Given the description of an element on the screen output the (x, y) to click on. 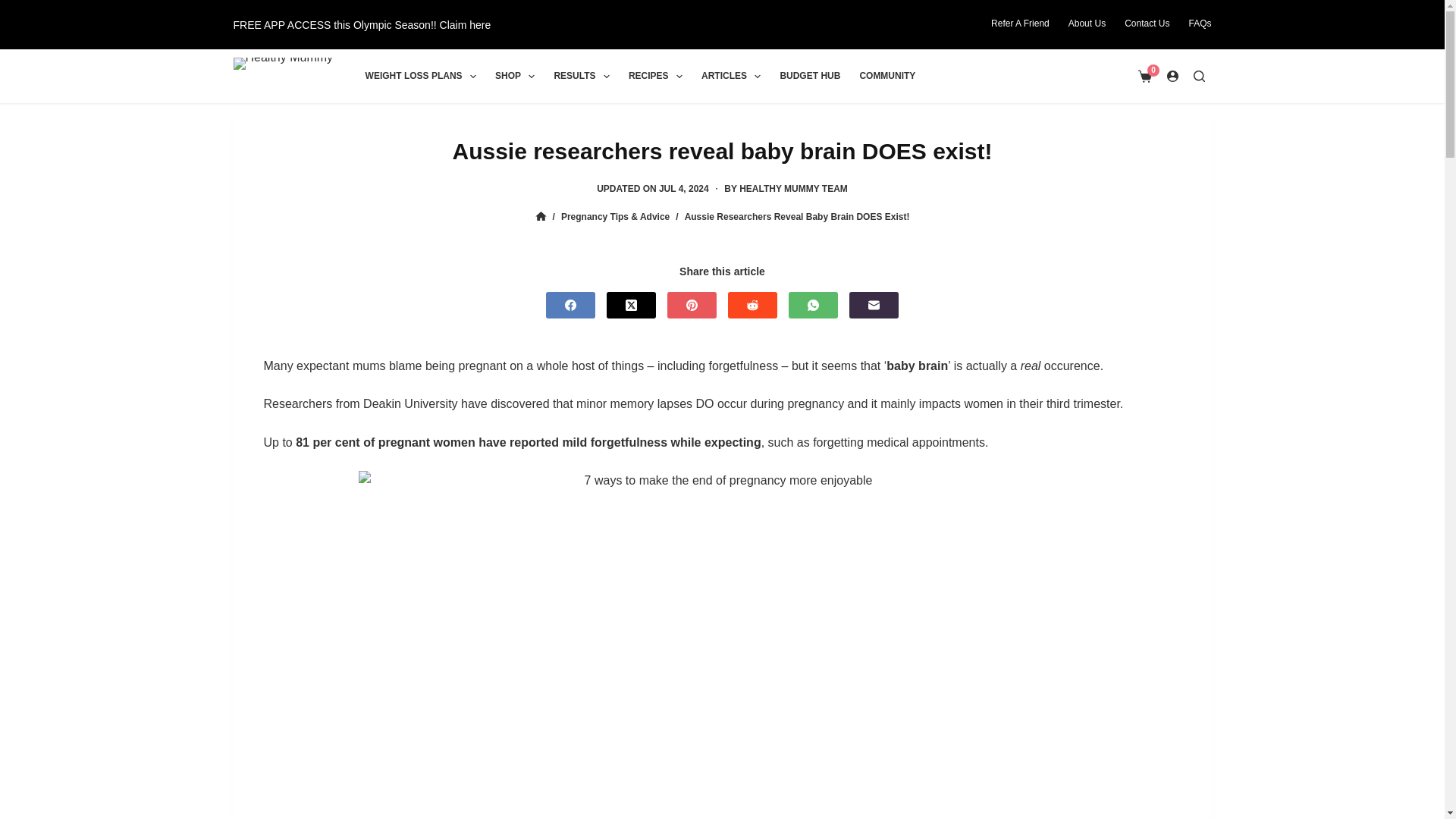
Aussie researchers reveal baby brain DOES exist! (721, 150)
Posts by Healthy Mummy Team (793, 188)
Get our offer (362, 23)
Skip to content (15, 7)
